Given the description of an element on the screen output the (x, y) to click on. 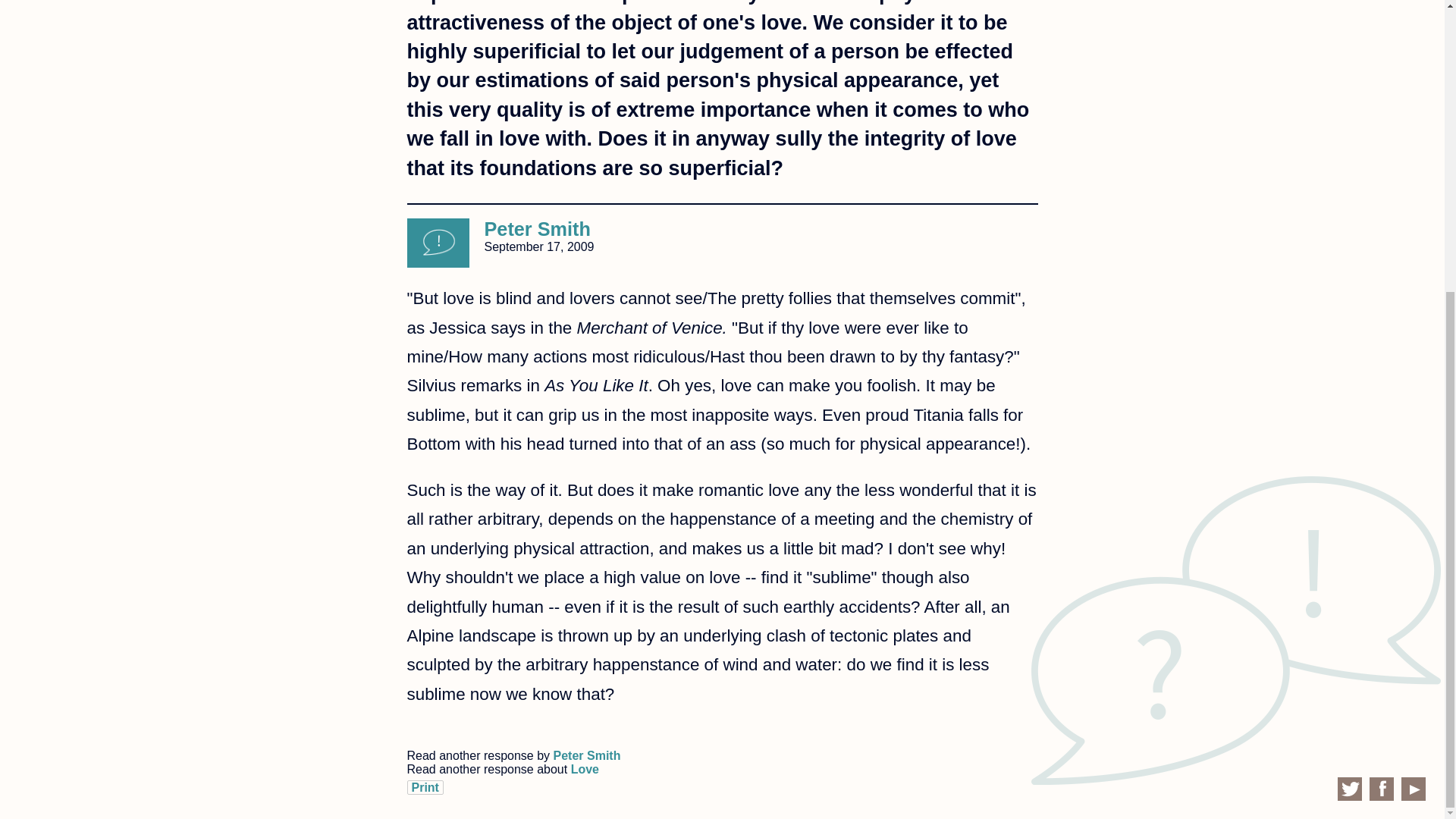
Display a printer-friendly version of this page. (424, 787)
View user profile. (536, 228)
Love (584, 768)
Peter Smith (587, 755)
Peter Smith (536, 228)
Print (424, 787)
